Given the description of an element on the screen output the (x, y) to click on. 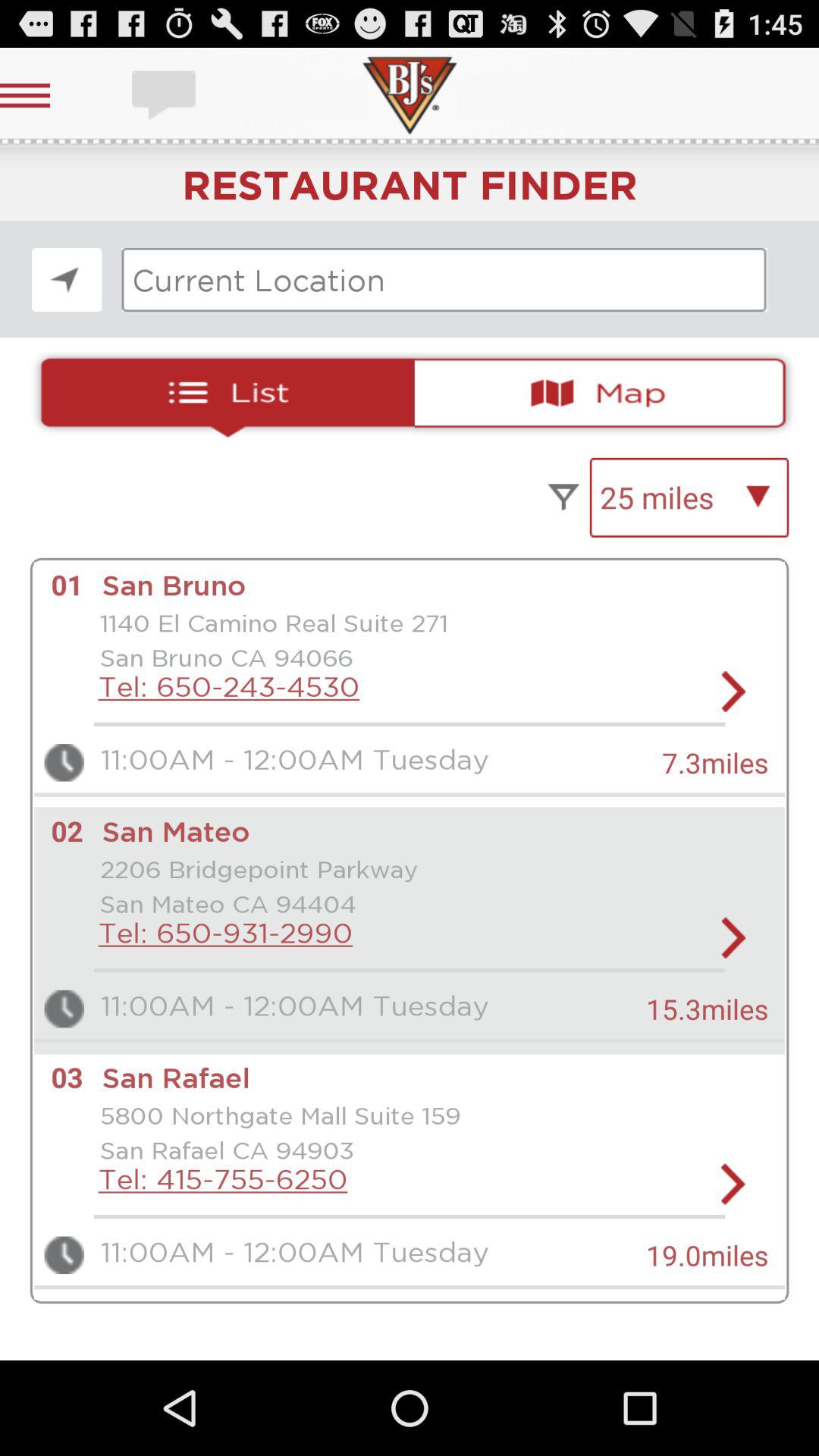
look the location (66, 279)
